Given the description of an element on the screen output the (x, y) to click on. 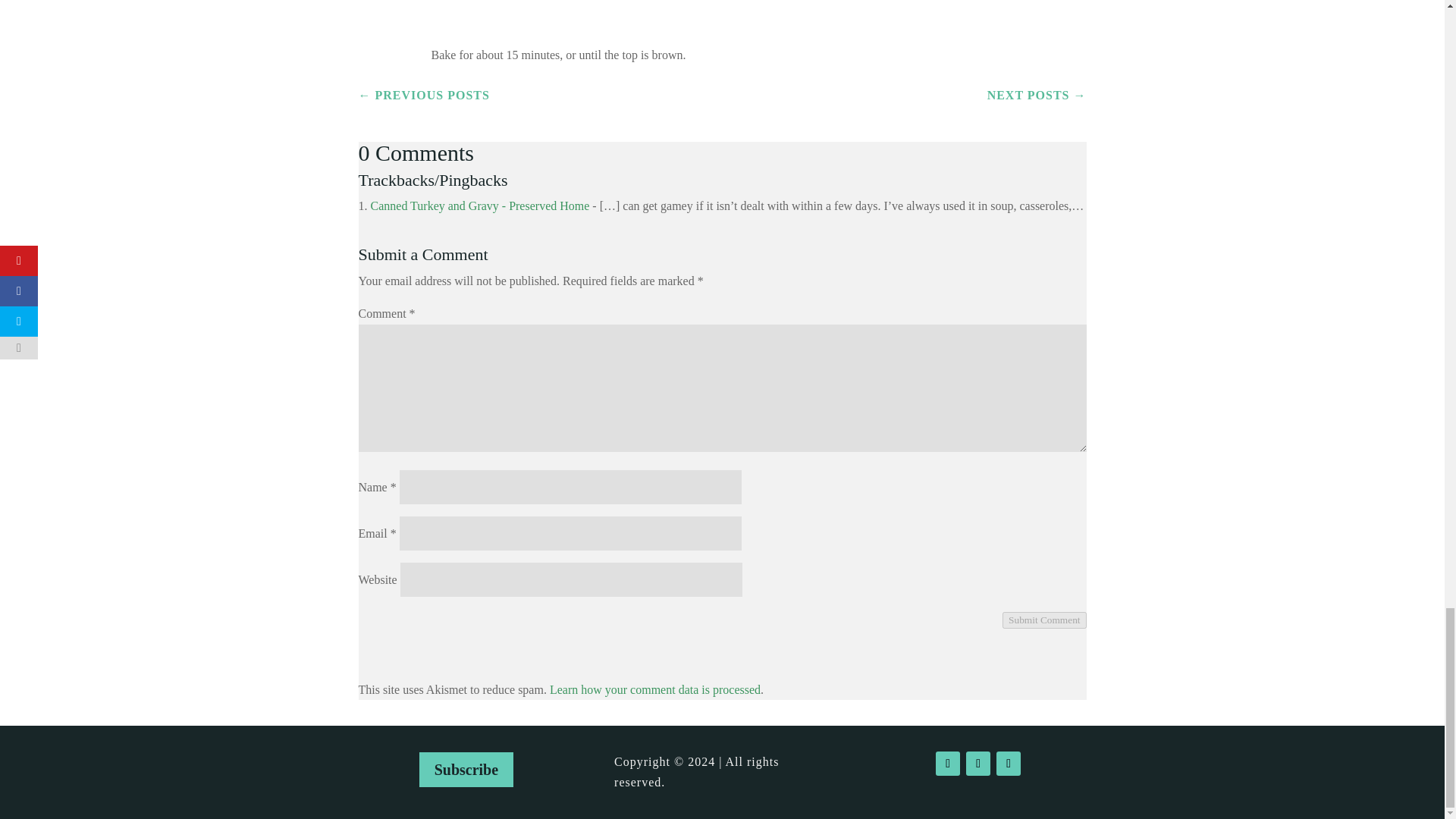
Follow on Instagram (978, 763)
Submit Comment (1044, 619)
Follow on Pinterest (1007, 763)
Follow on Facebook (947, 763)
Canned Turkey and Gravy - Preserved Home (479, 205)
